Given the description of an element on the screen output the (x, y) to click on. 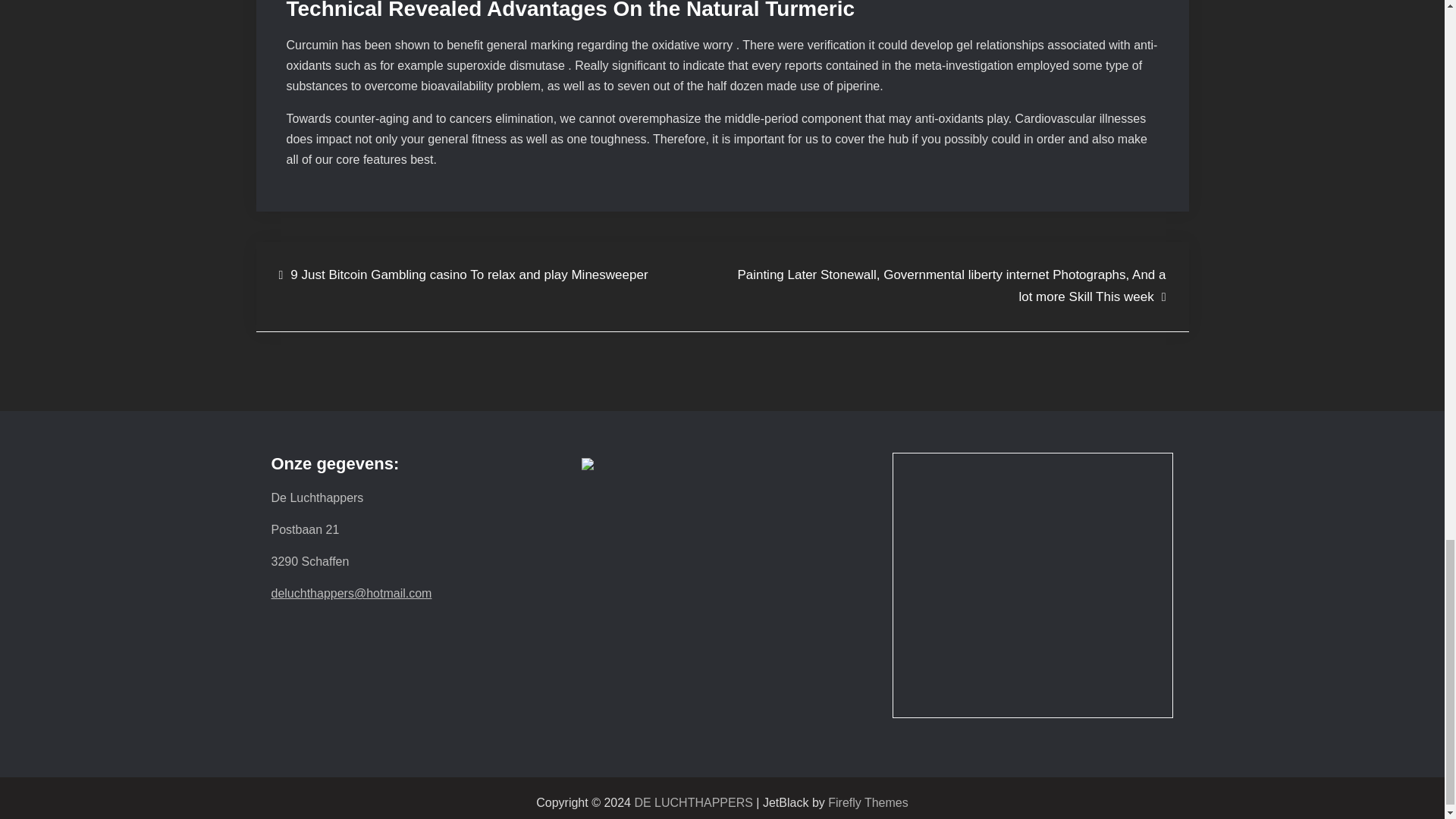
9 Just Bitcoin Gambling casino To relax and play Minesweeper (463, 275)
DE LUCHTHAPPERS (692, 802)
Firefly Themes (868, 802)
